Given the description of an element on the screen output the (x, y) to click on. 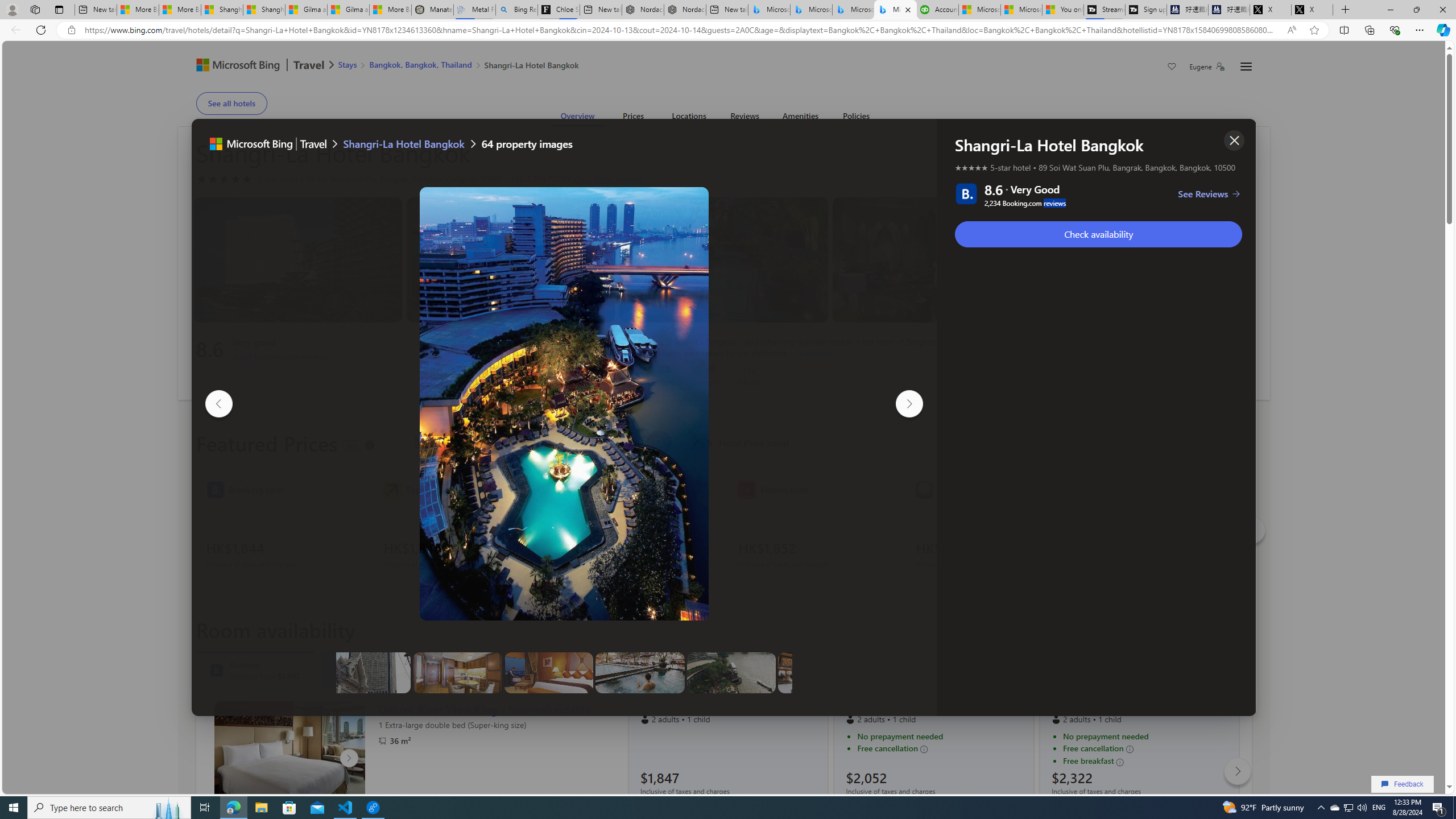
Chloe Sorvino (558, 9)
Microsoft Bing Travel - Shangri-La Hotel Bangkok (895, 9)
